Given the description of an element on the screen output the (x, y) to click on. 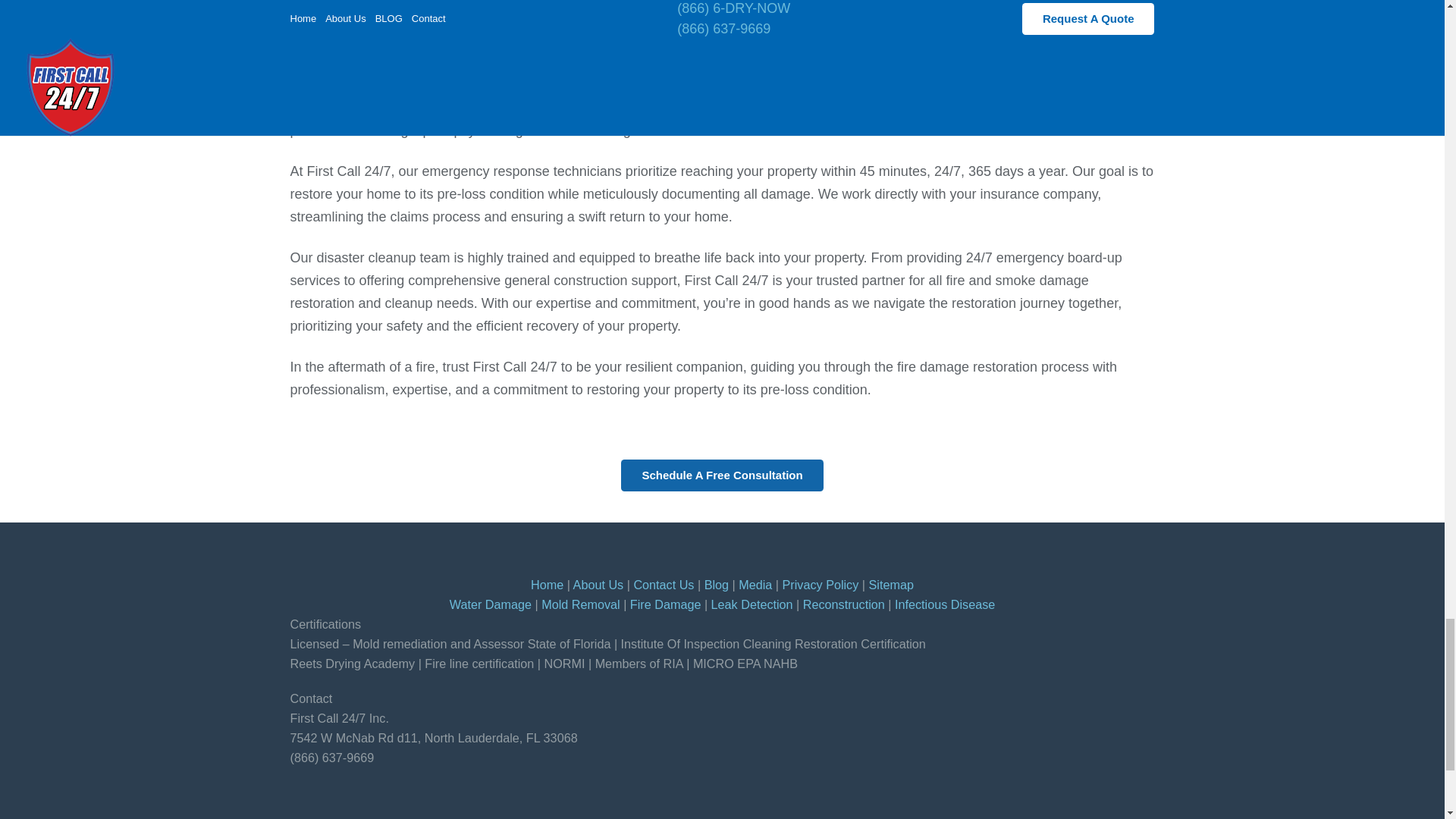
Contact Us (663, 584)
Reconstruction (844, 603)
Media (754, 584)
Schedule A Free Consultation (721, 475)
Mold Removal (580, 603)
Privacy Policy (821, 584)
Blog (716, 584)
Sitemap (891, 584)
Fire Damage (665, 603)
Water Damage (490, 603)
Leak Detection (752, 603)
Home (547, 584)
Contact (721, 475)
About Us (598, 584)
